Given the description of an element on the screen output the (x, y) to click on. 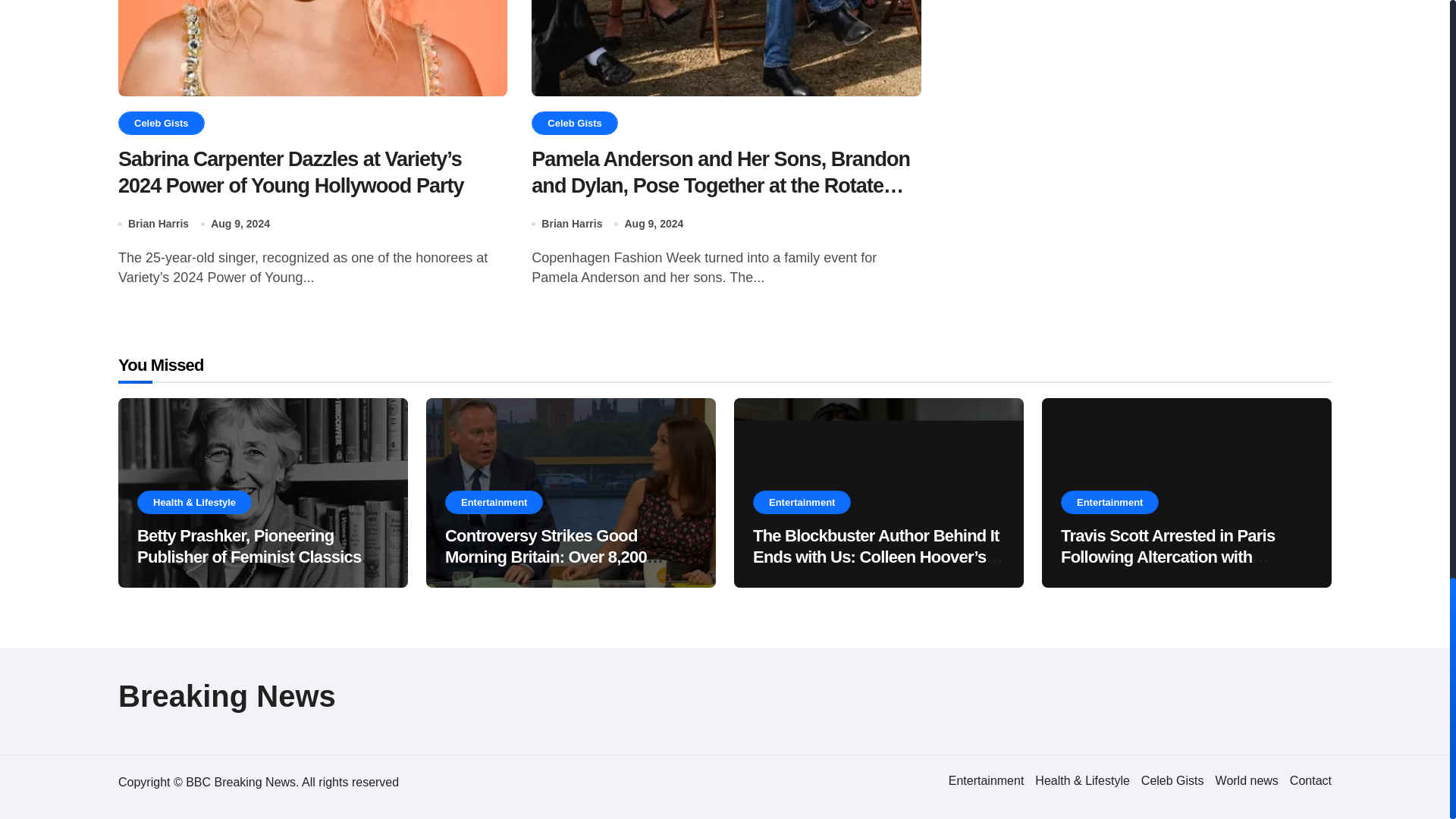
Celeb Gists (1172, 780)
Contact (1311, 780)
Entertainment (987, 780)
World news (1246, 780)
